Given the description of an element on the screen output the (x, y) to click on. 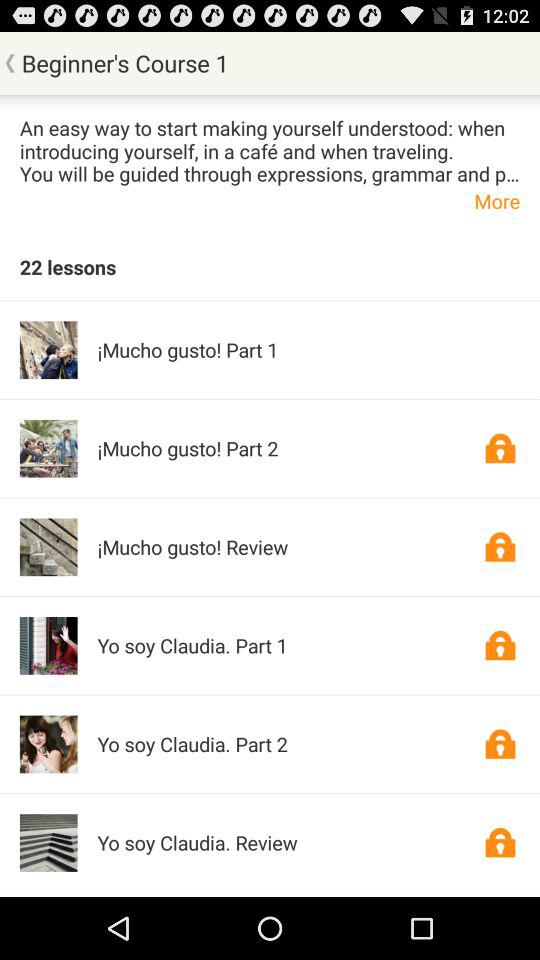
choose the an easy way (269, 150)
